Given the description of an element on the screen output the (x, y) to click on. 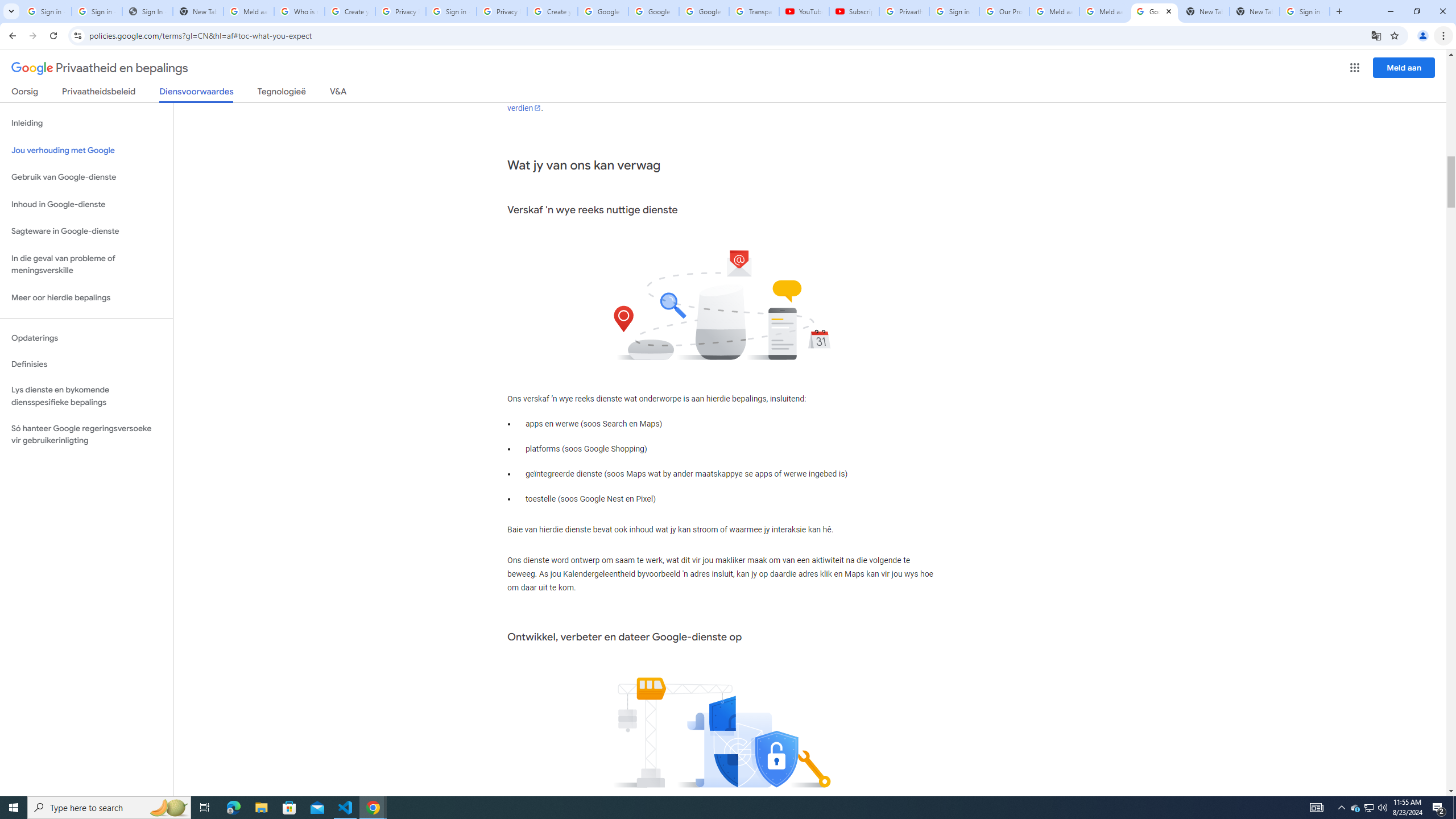
In die geval van probleme of meningsverskille (86, 264)
Sign in - Google Accounts (450, 11)
Privaatheidsbeleid (98, 93)
Subscriptions - YouTube (853, 11)
Sign in - Google Accounts (1304, 11)
Create your Google Account (350, 11)
